Given the description of an element on the screen output the (x, y) to click on. 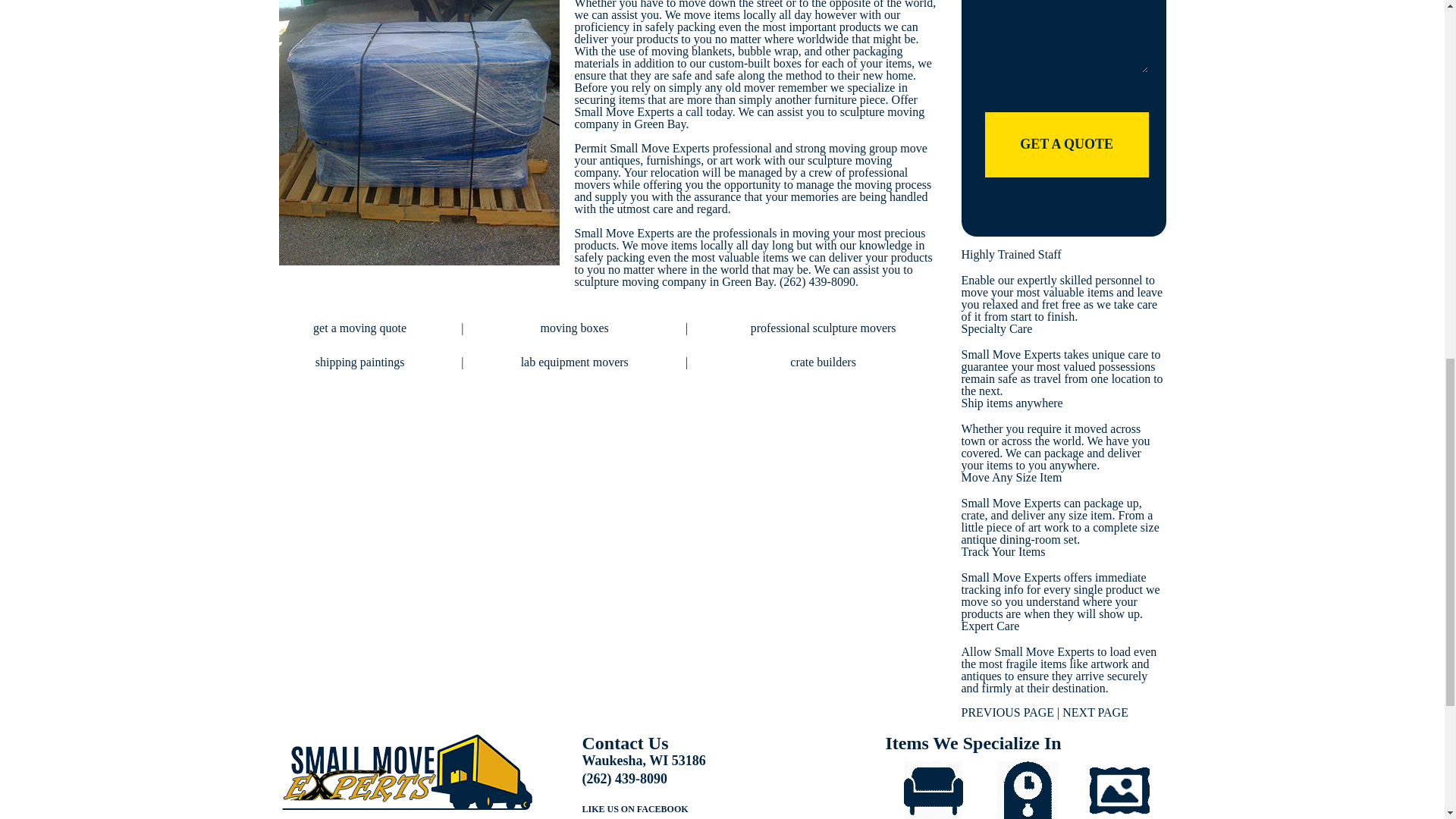
get a moving quote (359, 327)
crate builders (823, 361)
moving boxes (574, 327)
lab equipment movers (574, 361)
professional sculpture movers (823, 327)
shipping paintings (359, 361)
Get A Quote (1066, 144)
Get A Quote (1066, 144)
Highly Trained Staff (1010, 254)
